Given the description of an element on the screen output the (x, y) to click on. 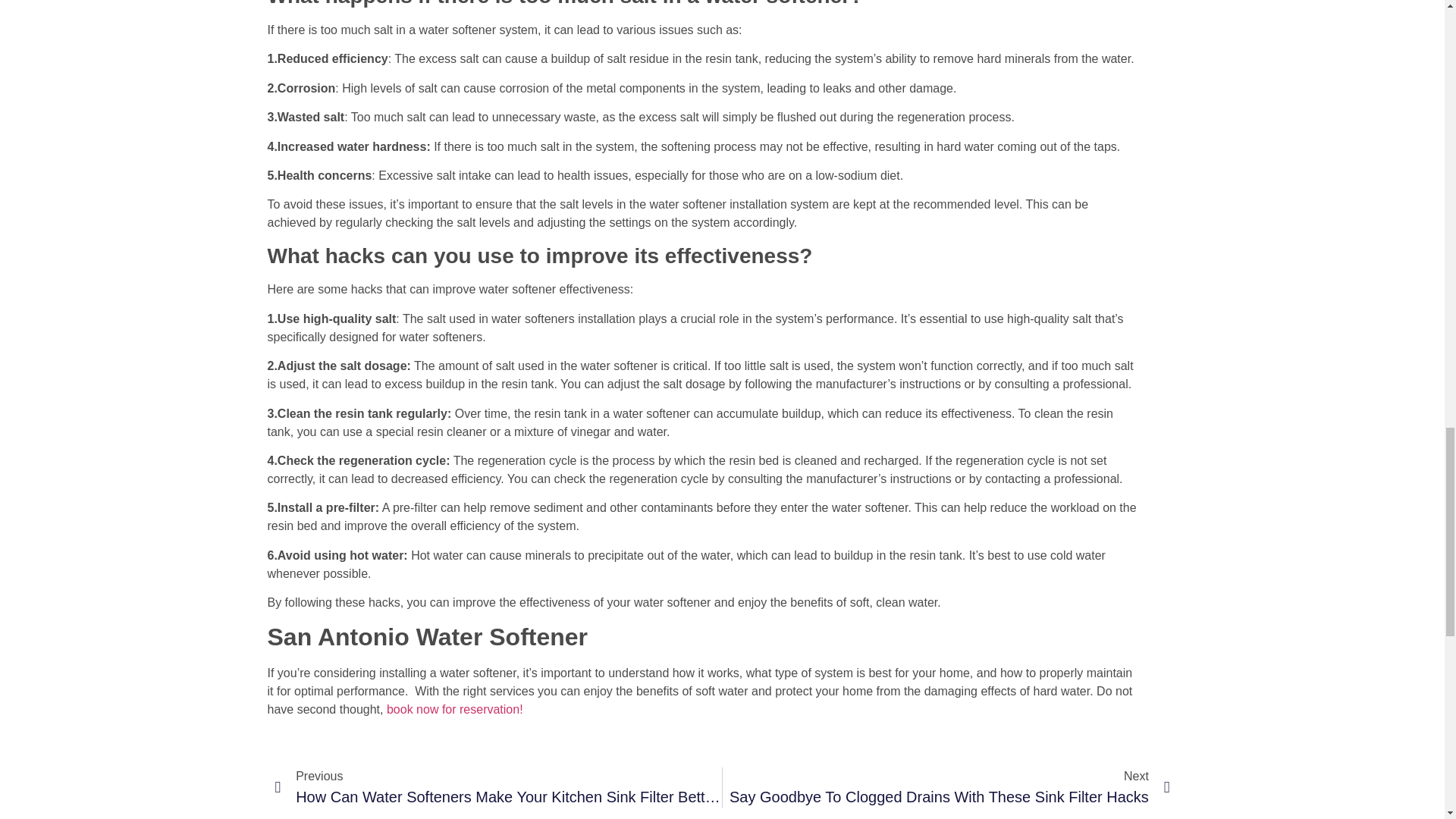
book now for reservation! (454, 708)
